Given the description of an element on the screen output the (x, y) to click on. 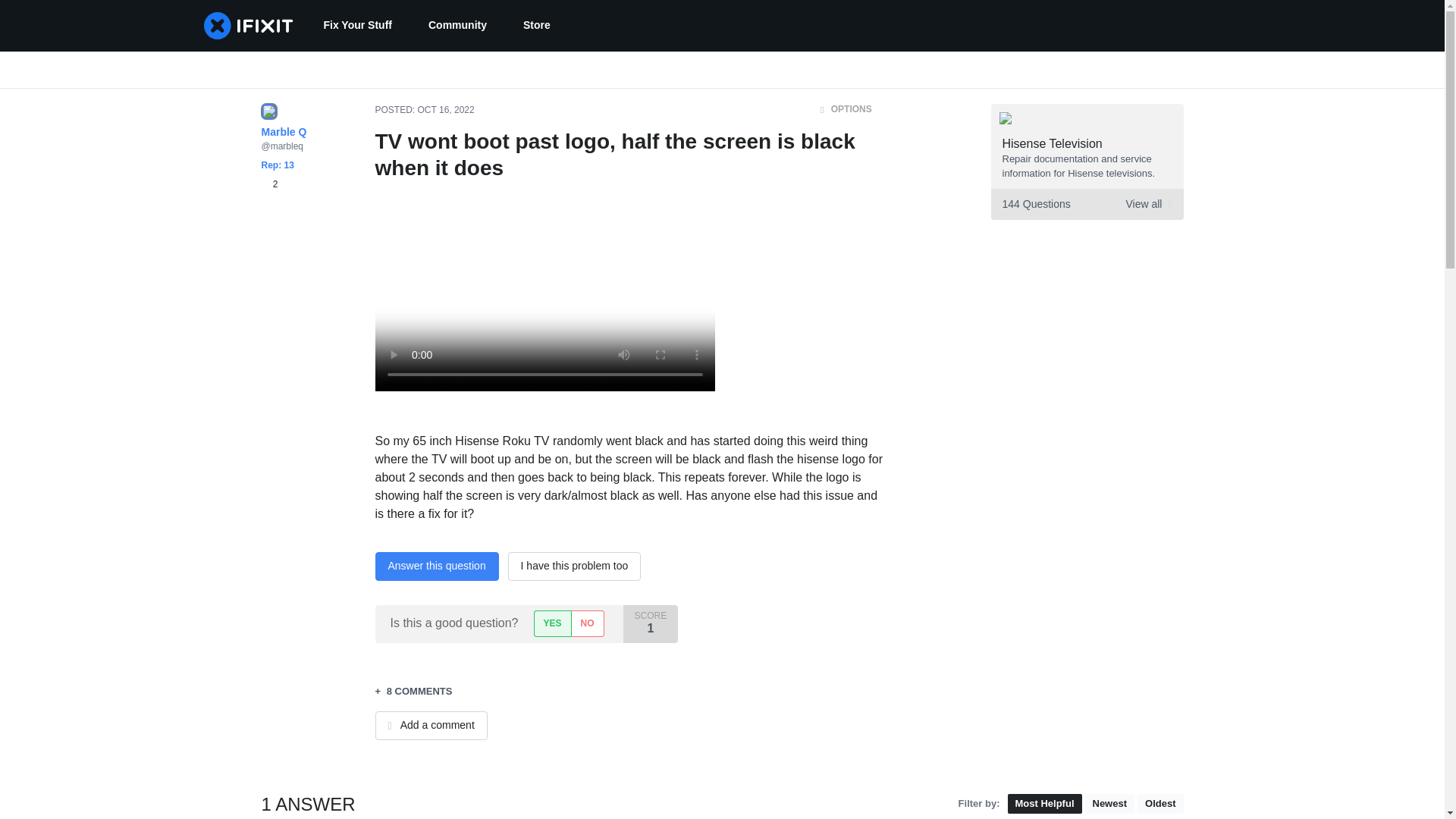
Newest (1109, 803)
POSTED: OCT 16, 2022 (424, 109)
YES (552, 623)
I have this problem too (575, 566)
2 Bronze badges (1086, 204)
Hisense Television (269, 184)
NO (1052, 143)
Store (587, 623)
Community (537, 25)
